Given the description of an element on the screen output the (x, y) to click on. 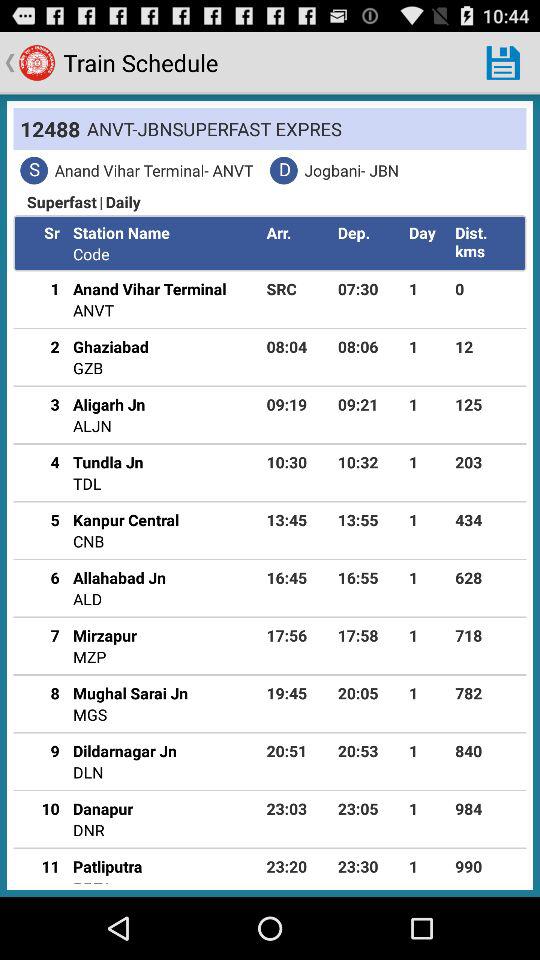
turn off icon above the 08:04 item (298, 288)
